Given the description of an element on the screen output the (x, y) to click on. 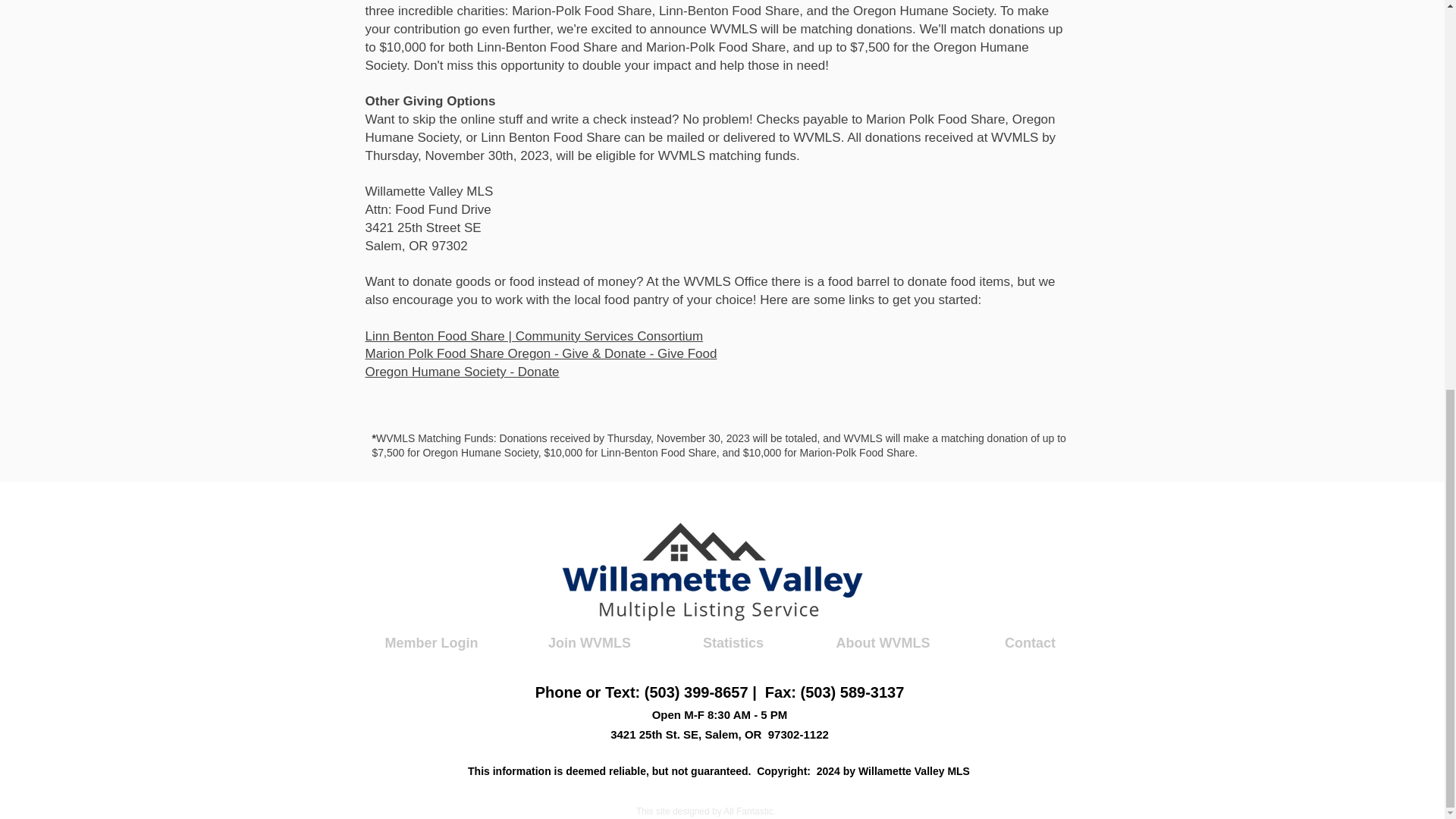
Oregon Humane Society - Donate (541, 380)
Member Login (431, 642)
About WVMLS (882, 642)
Contact (1029, 642)
Statistics (732, 642)
Join WVMLS (589, 642)
All Fantastic (748, 810)
